Given the description of an element on the screen output the (x, y) to click on. 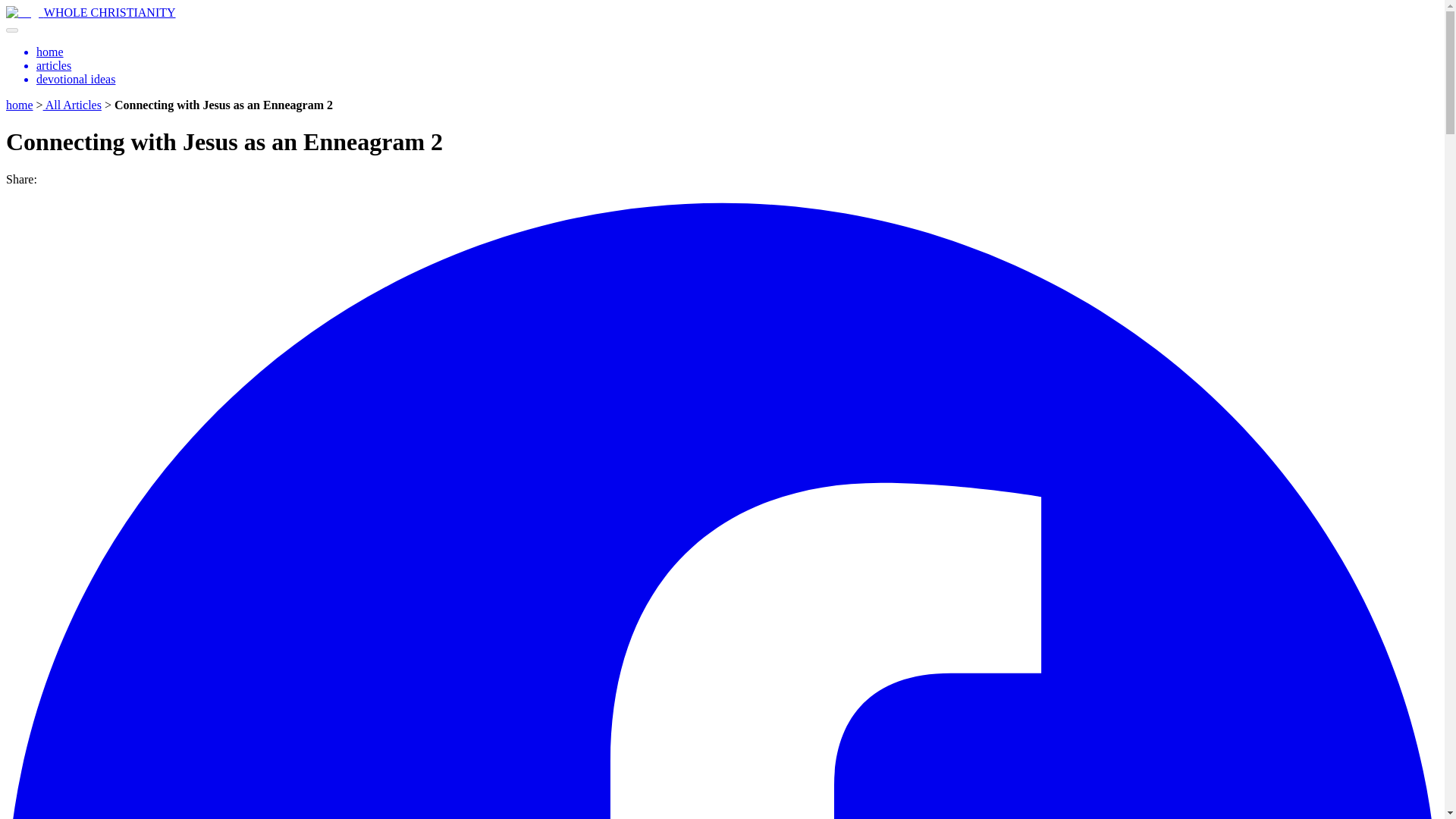
All Articles (72, 104)
WHOLE CHRISTIANITY (109, 11)
home (19, 104)
